Given the description of an element on the screen output the (x, y) to click on. 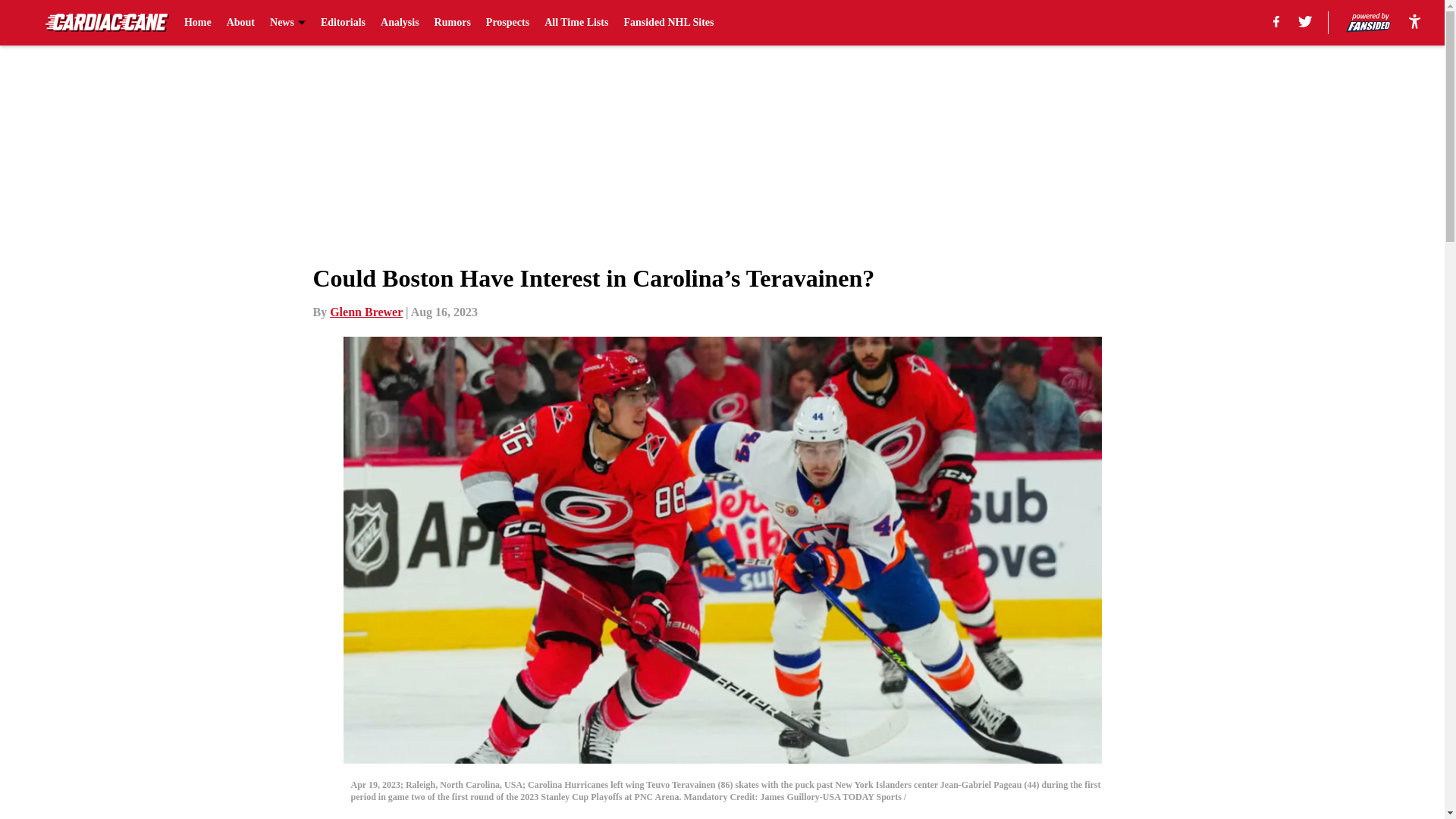
All Time Lists (576, 22)
About (240, 22)
Home (197, 22)
Analysis (399, 22)
Editorials (342, 22)
Prospects (507, 22)
Fansided NHL Sites (668, 22)
Rumors (451, 22)
Glenn Brewer (366, 311)
